Given the description of an element on the screen output the (x, y) to click on. 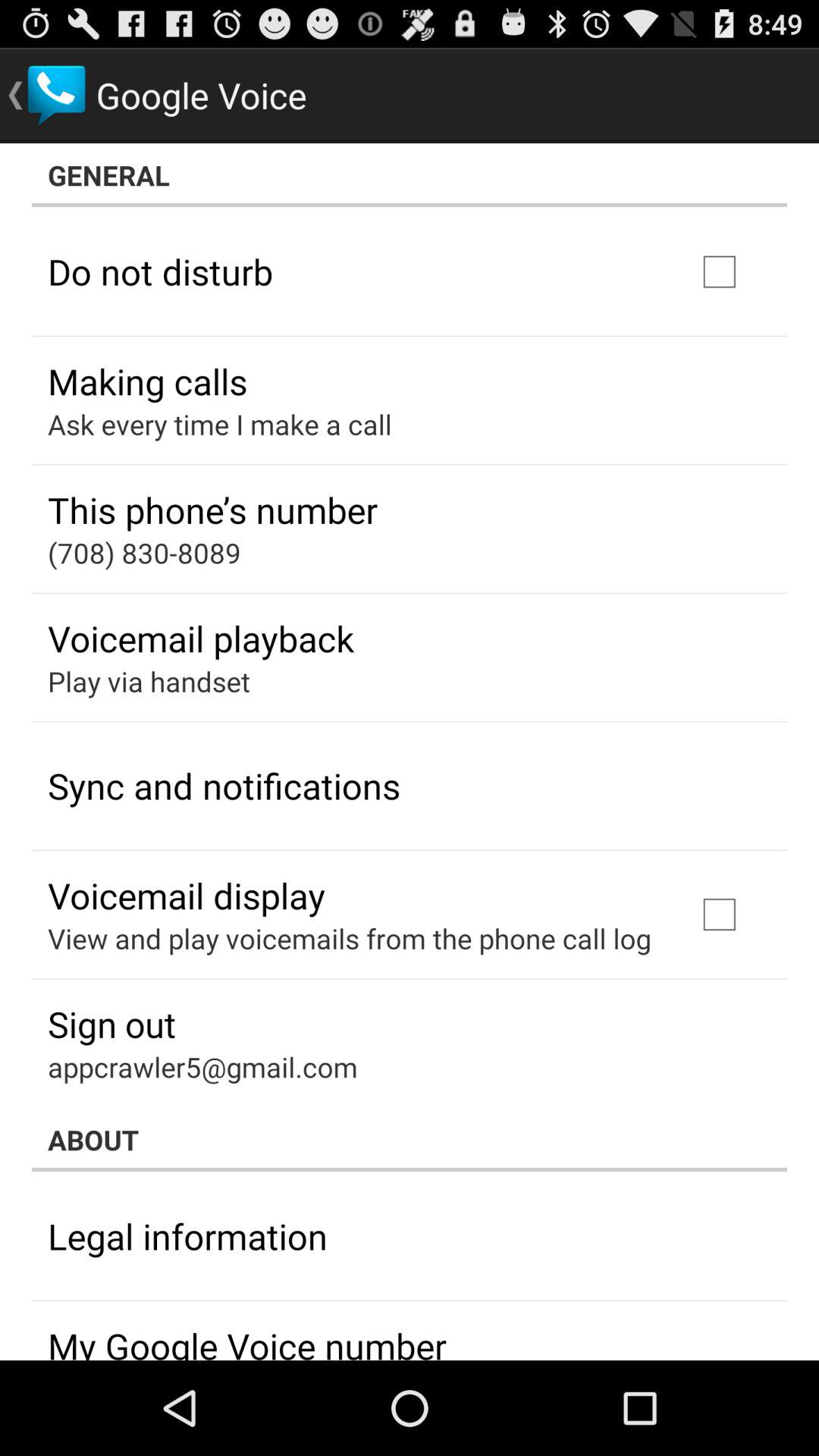
open the icon above about app (202, 1066)
